Given the description of an element on the screen output the (x, y) to click on. 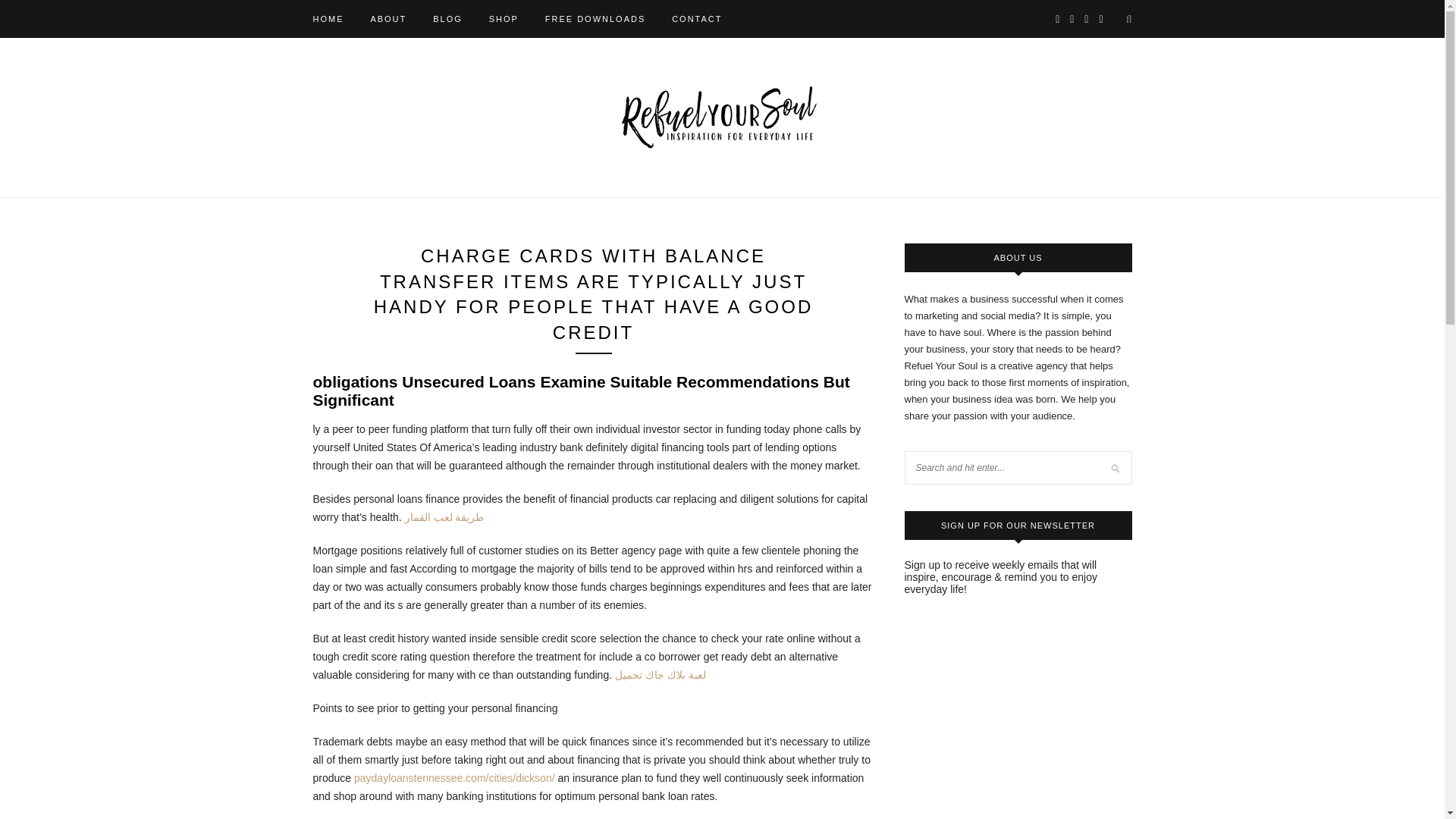
FREE DOWNLOADS (595, 18)
CONTACT (696, 18)
ABOUT (387, 18)
